Given the description of an element on the screen output the (x, y) to click on. 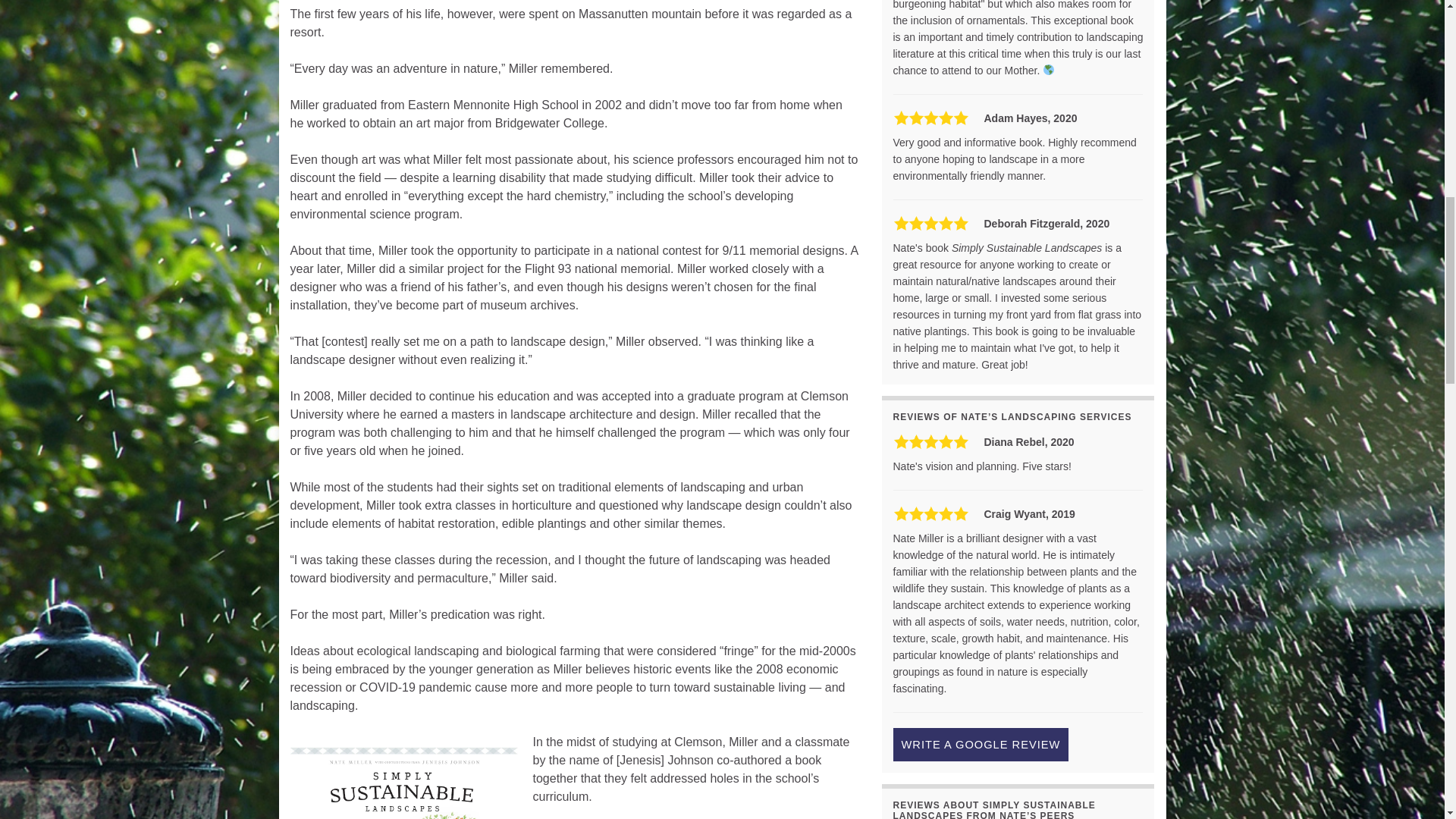
WRITE A GOOGLE REVIEW (980, 744)
